Given the description of an element on the screen output the (x, y) to click on. 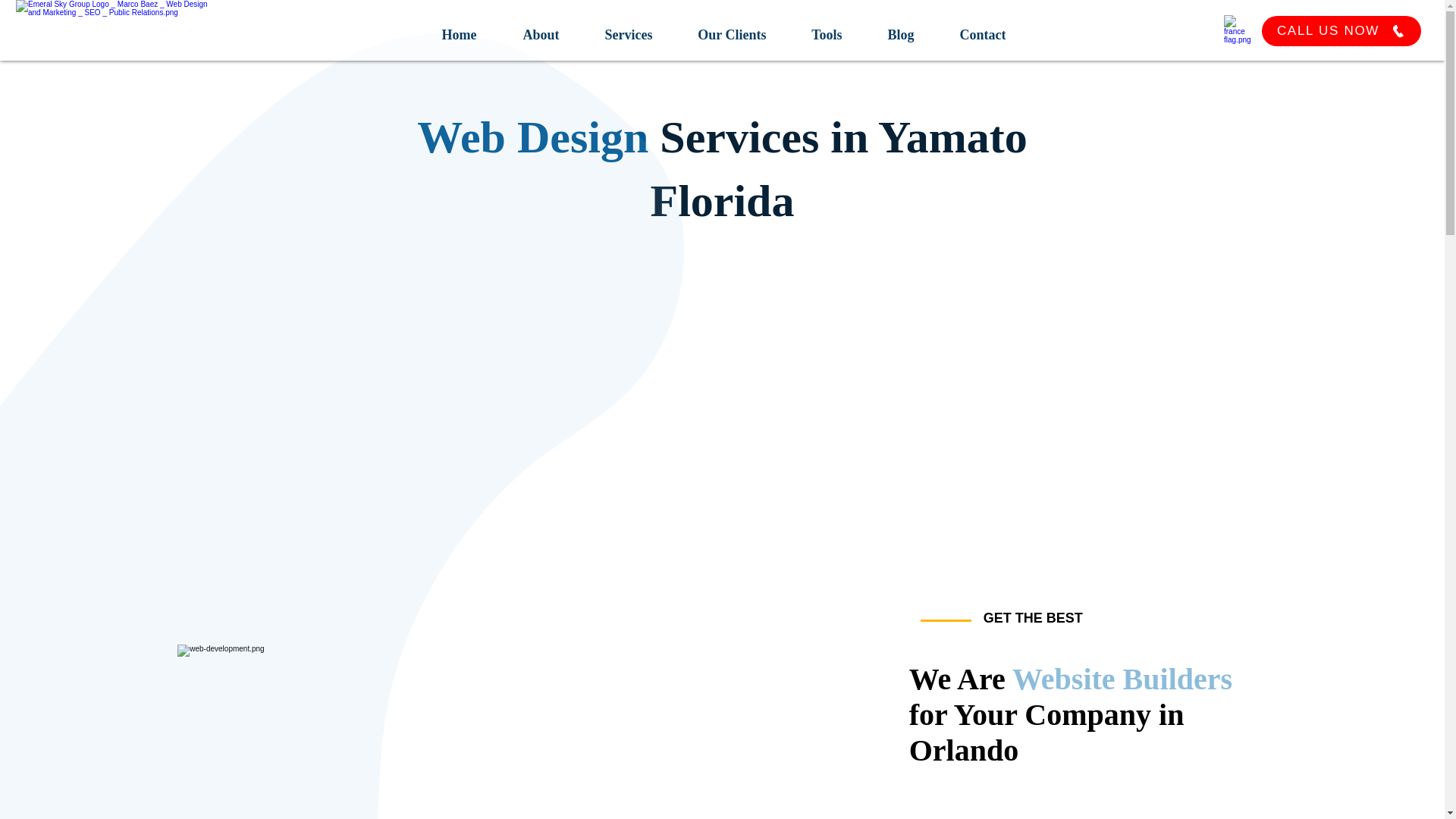
Our Clients (726, 28)
Home (452, 28)
About (535, 28)
Contact (977, 28)
CALL US NOW (1341, 30)
Services (622, 28)
Blog (895, 28)
